Given the description of an element on the screen output the (x, y) to click on. 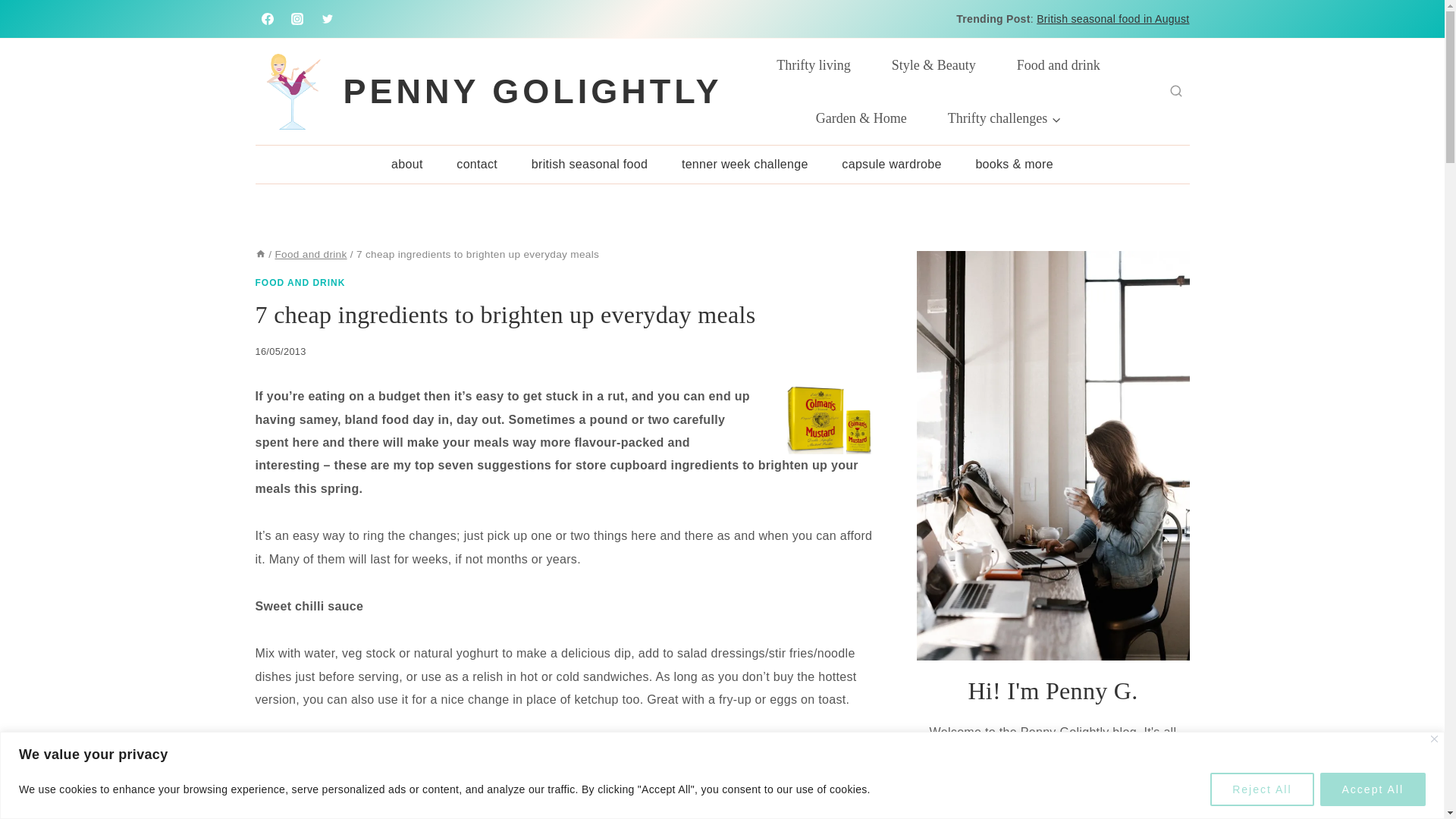
about (406, 164)
Reject All (1261, 788)
PENNY GOLIGHTLY (488, 91)
Food and drink (1058, 64)
Accept All (1372, 788)
Home (259, 254)
British seasonal food in August (1112, 19)
british seasonal food (588, 164)
tenner week challenge (745, 164)
Thrifty challenges (1004, 117)
